Given the description of an element on the screen output the (x, y) to click on. 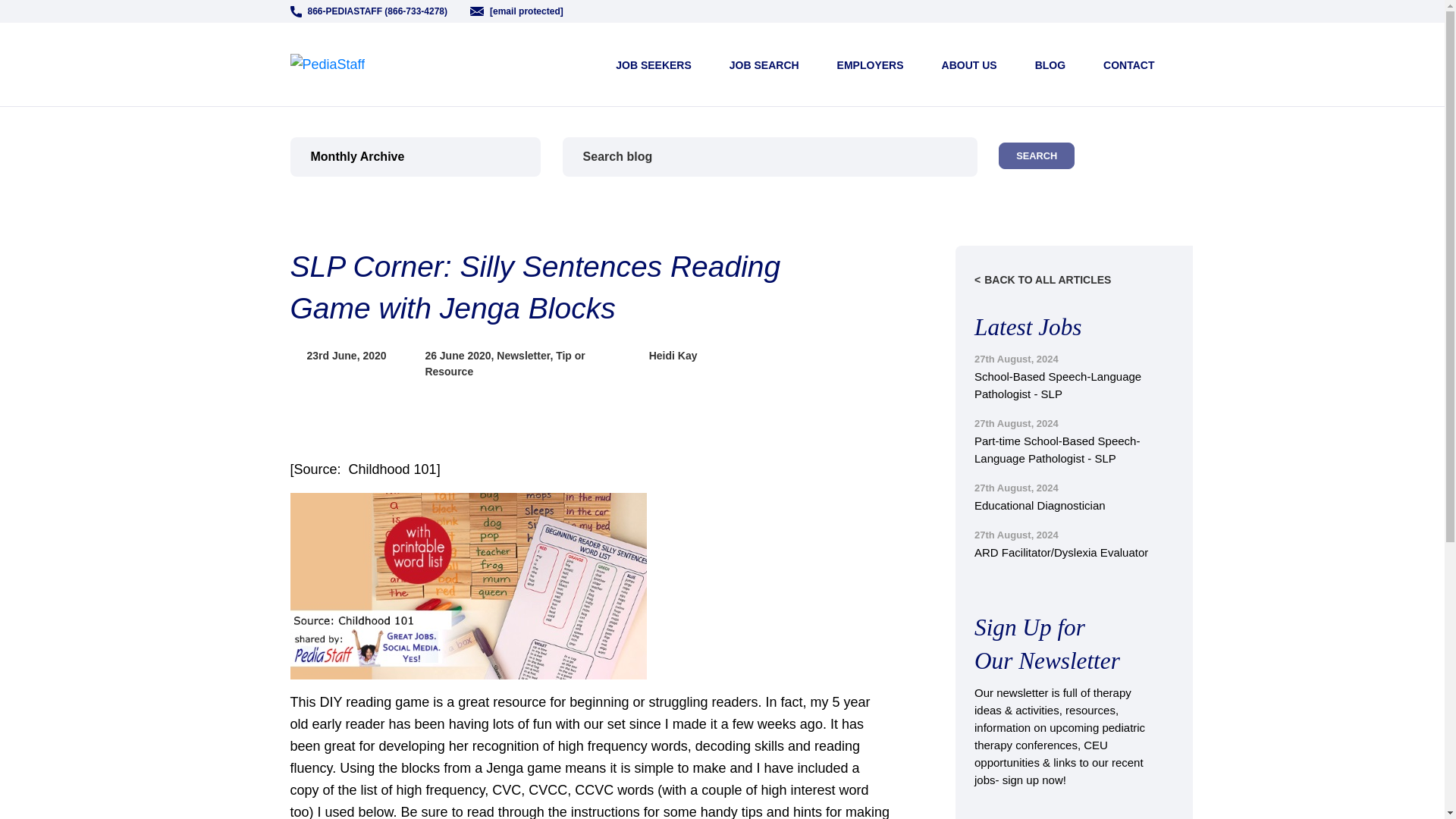
JOB SEEKERS (653, 64)
CONTACT (1128, 64)
BLOG (1050, 64)
ABOUT US (969, 64)
SEARCH (1036, 155)
JOB SEARCH (764, 64)
EMPLOYERS (870, 64)
Monthly Archive (414, 156)
